Given the description of an element on the screen output the (x, y) to click on. 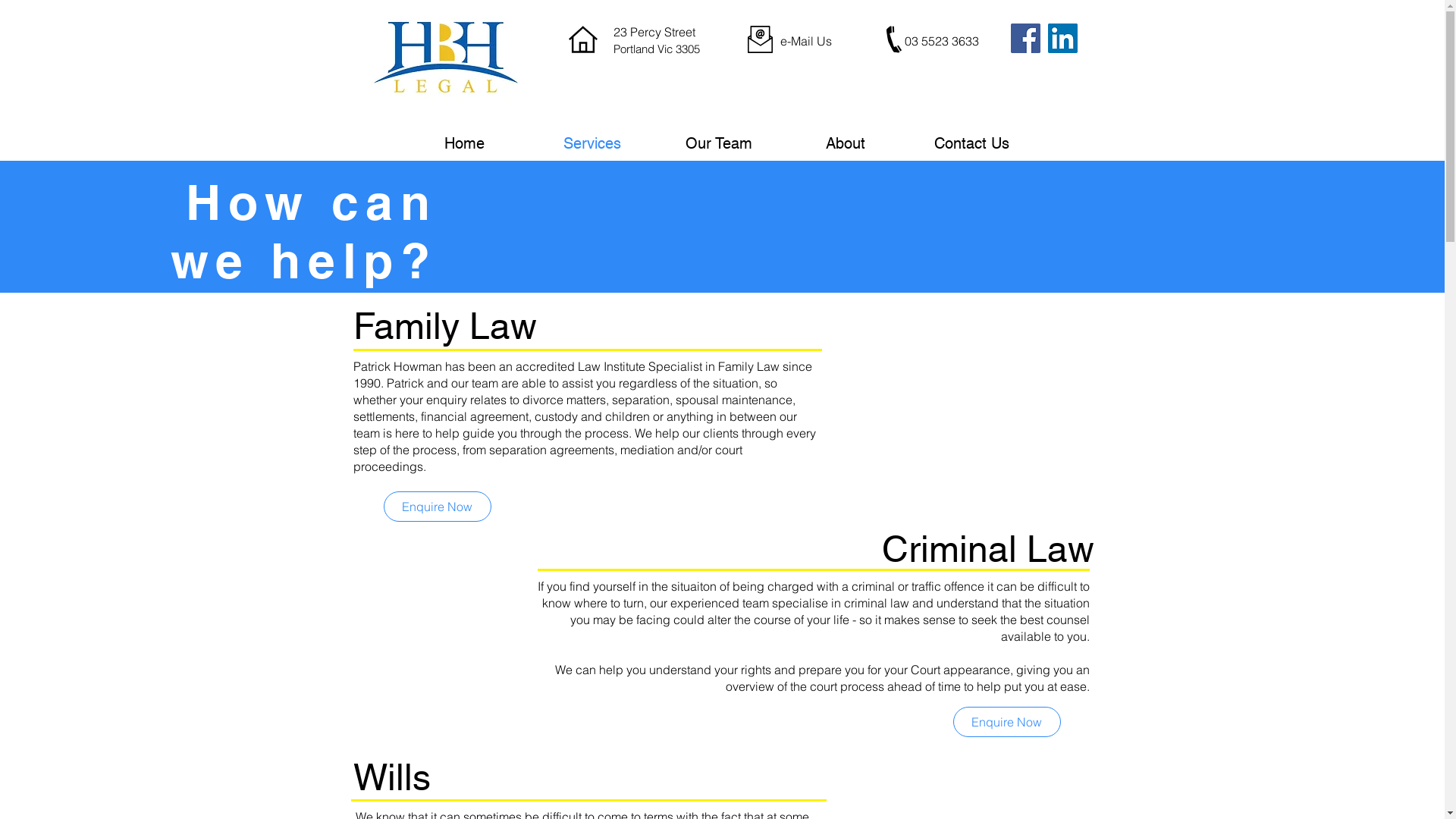
Enquire Now Element type: text (1006, 721)
About Element type: text (844, 143)
Our Team Element type: text (718, 143)
Contact Us Element type: text (971, 143)
03 5523 3633 Element type: text (940, 40)
Services Element type: text (590, 143)
Enquire Now Element type: text (437, 506)
Home Element type: text (463, 143)
e-Mail Us Element type: text (812, 40)
